Given the description of an element on the screen output the (x, y) to click on. 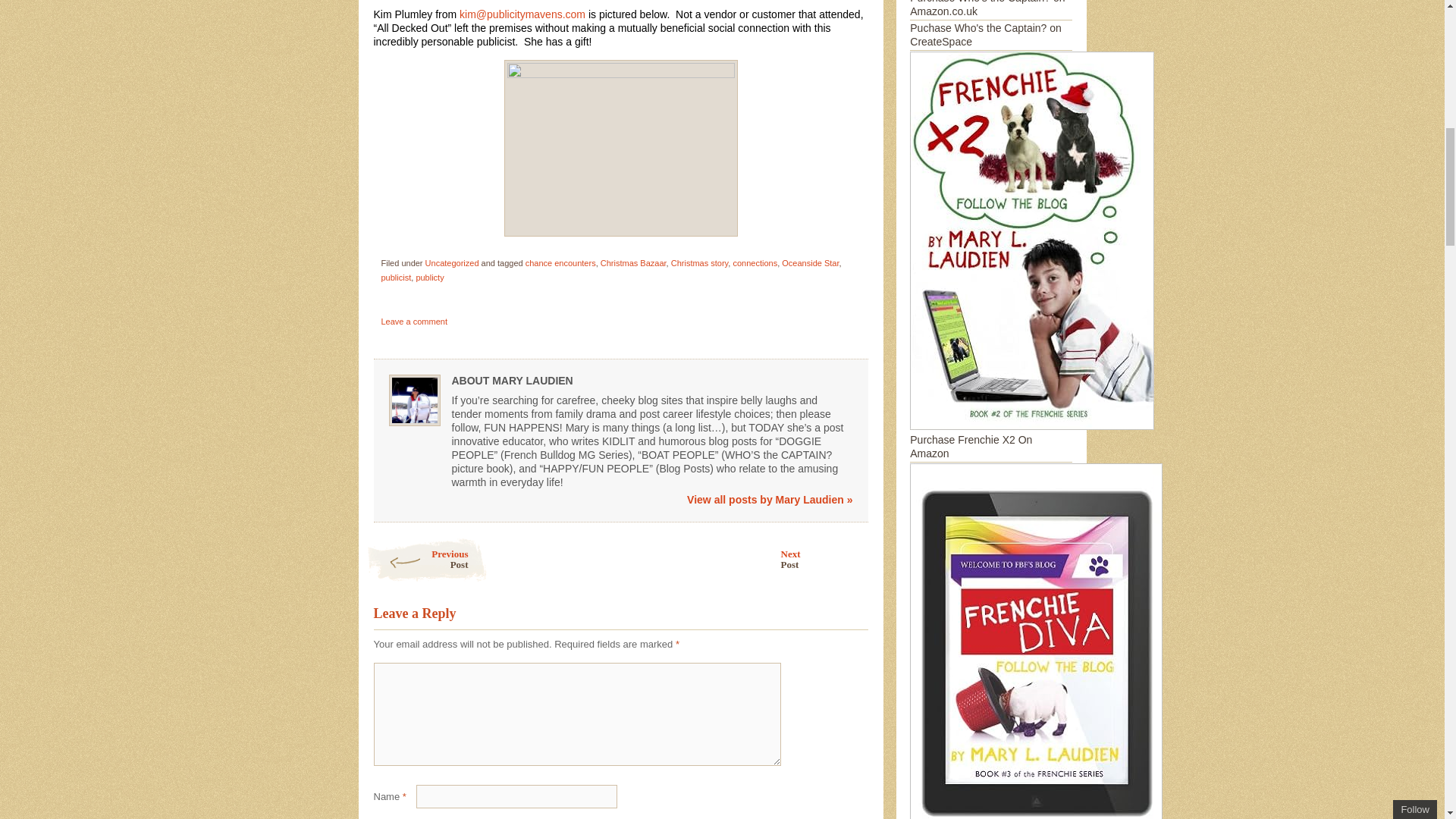
chance encounters (560, 262)
publicist (395, 276)
connections (754, 262)
Uncategorized (425, 560)
Purchase Frenchie X2 On Amazon (452, 262)
Christmas story (1032, 439)
Purchase Who's the Captain? on Amazon.co.uk (700, 262)
Puchase Who's the Captain? on CreateSpace (987, 8)
